Given the description of an element on the screen output the (x, y) to click on. 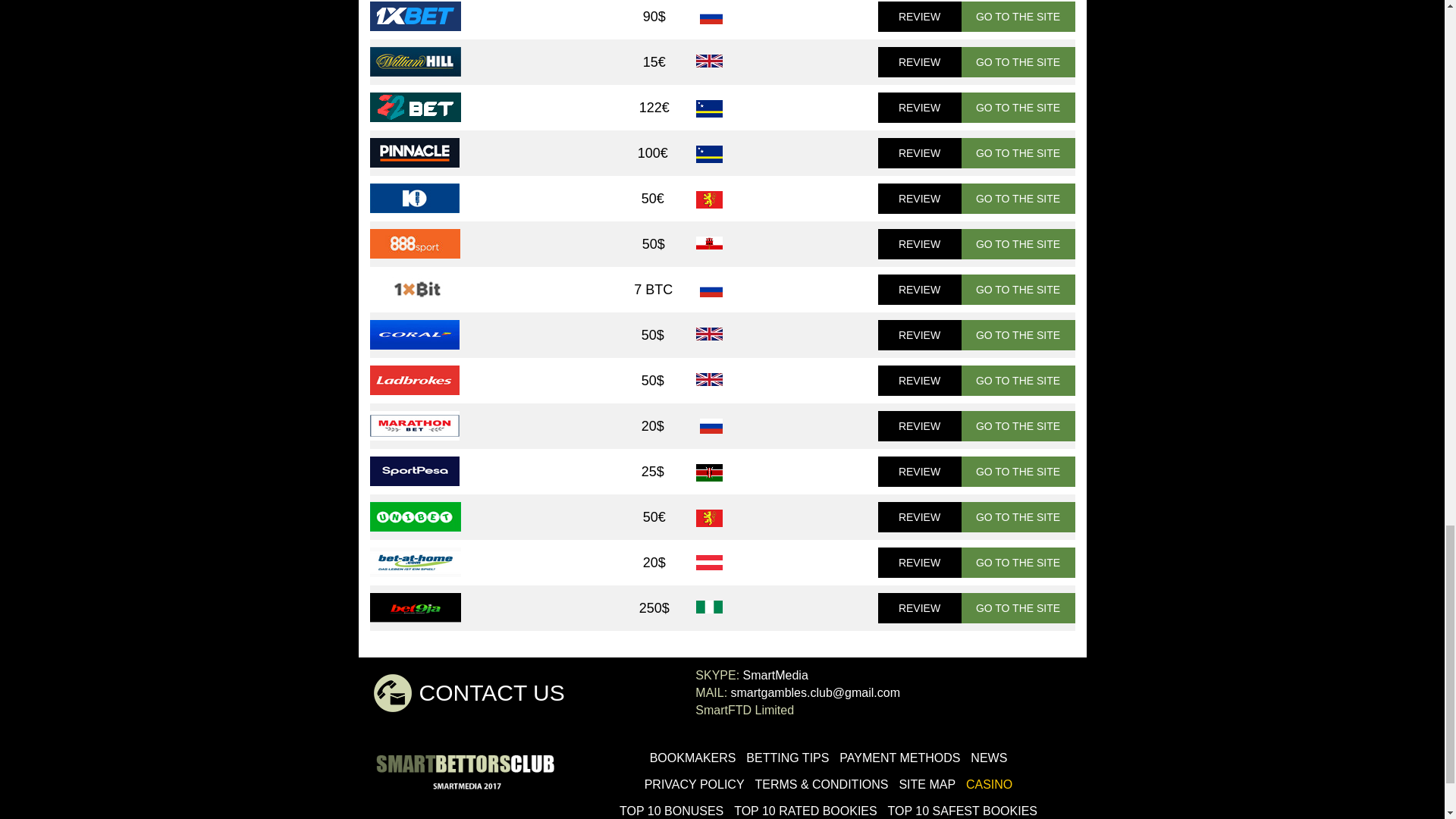
GO TO THE SITE (1017, 426)
REVIEW (918, 107)
SportPesa (414, 471)
GO TO THE SITE (1017, 107)
GO TO THE SITE (1017, 198)
REVIEW (918, 289)
Pinnacle (414, 152)
Ladbrokes (414, 379)
1xbit (414, 288)
REVIEW (918, 244)
GO TO THE SITE (1017, 244)
GO TO THE SITE (1017, 61)
GO TO THE SITE (1017, 380)
William Hill (415, 61)
GO TO THE SITE (1017, 16)
